Given the description of an element on the screen output the (x, y) to click on. 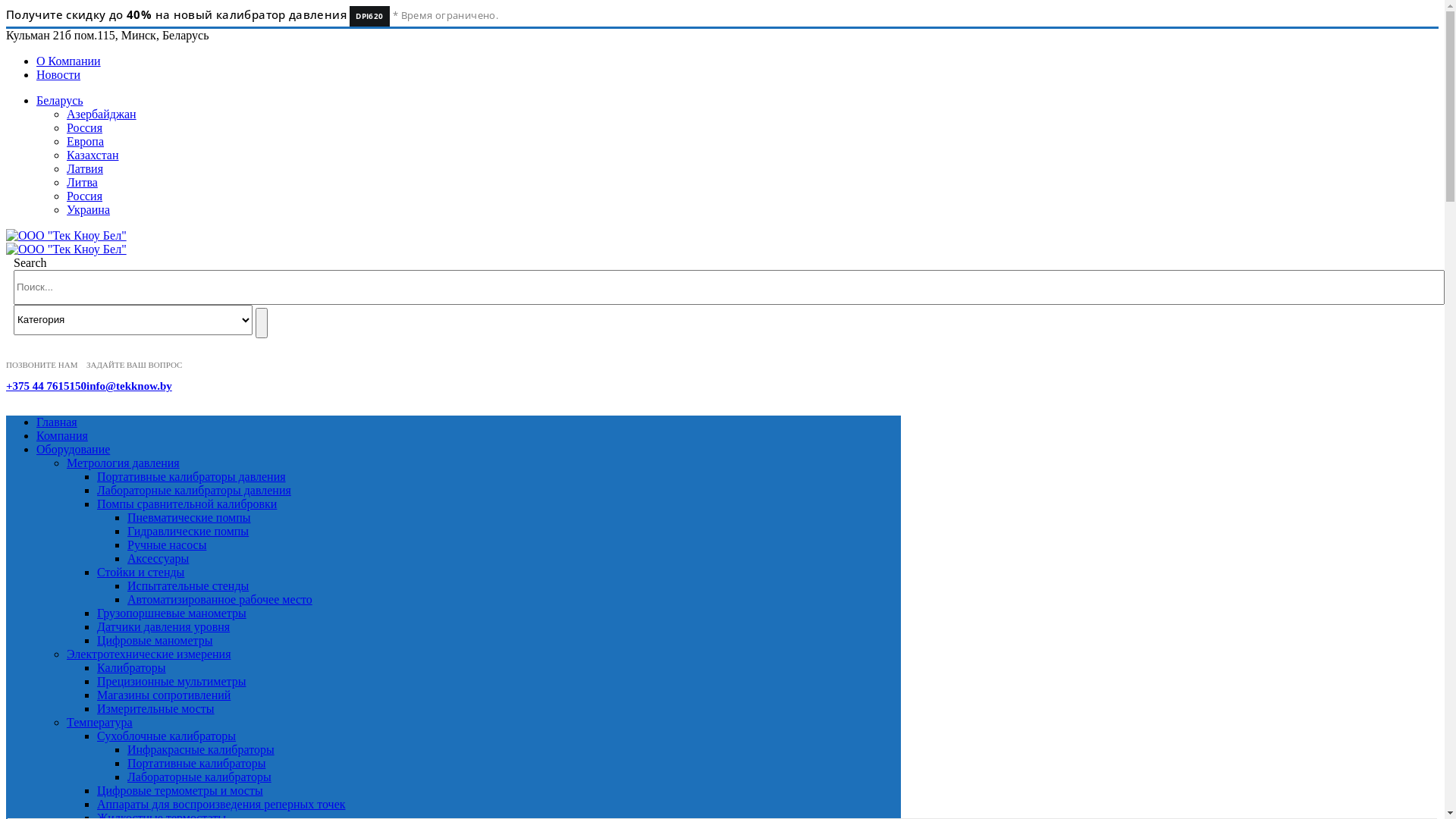
+375 44 7615150 Element type: text (46, 385)
DPI620 Element type: text (369, 16)
Search Element type: text (30, 262)
Search Element type: hover (261, 322)
info@tekknow.by Element type: text (129, 385)
